Given the description of an element on the screen output the (x, y) to click on. 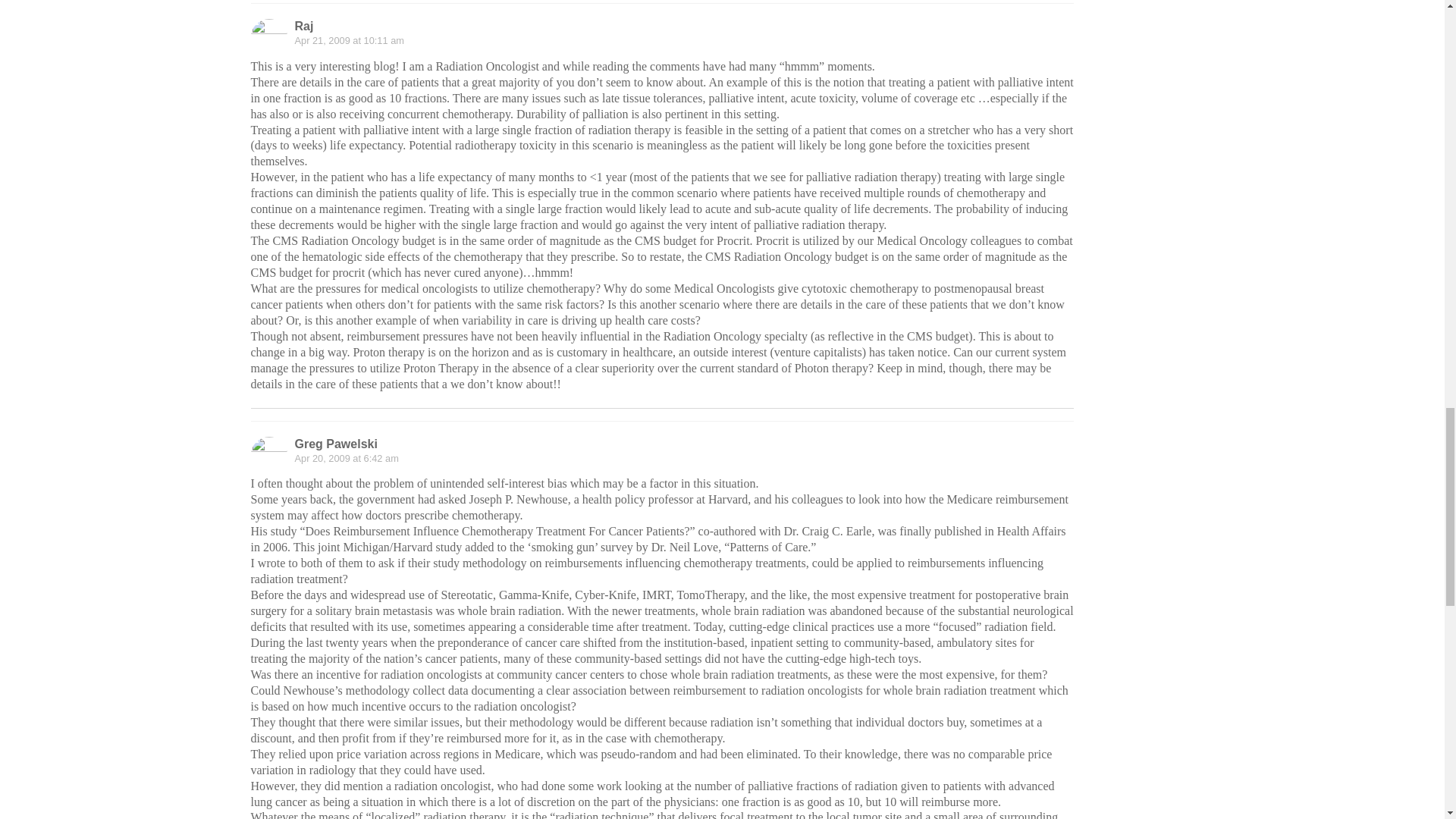
Apr 21, 2009 at 10:11 am (348, 40)
Apr 20, 2009 at 6:42 am (345, 458)
